Given the description of an element on the screen output the (x, y) to click on. 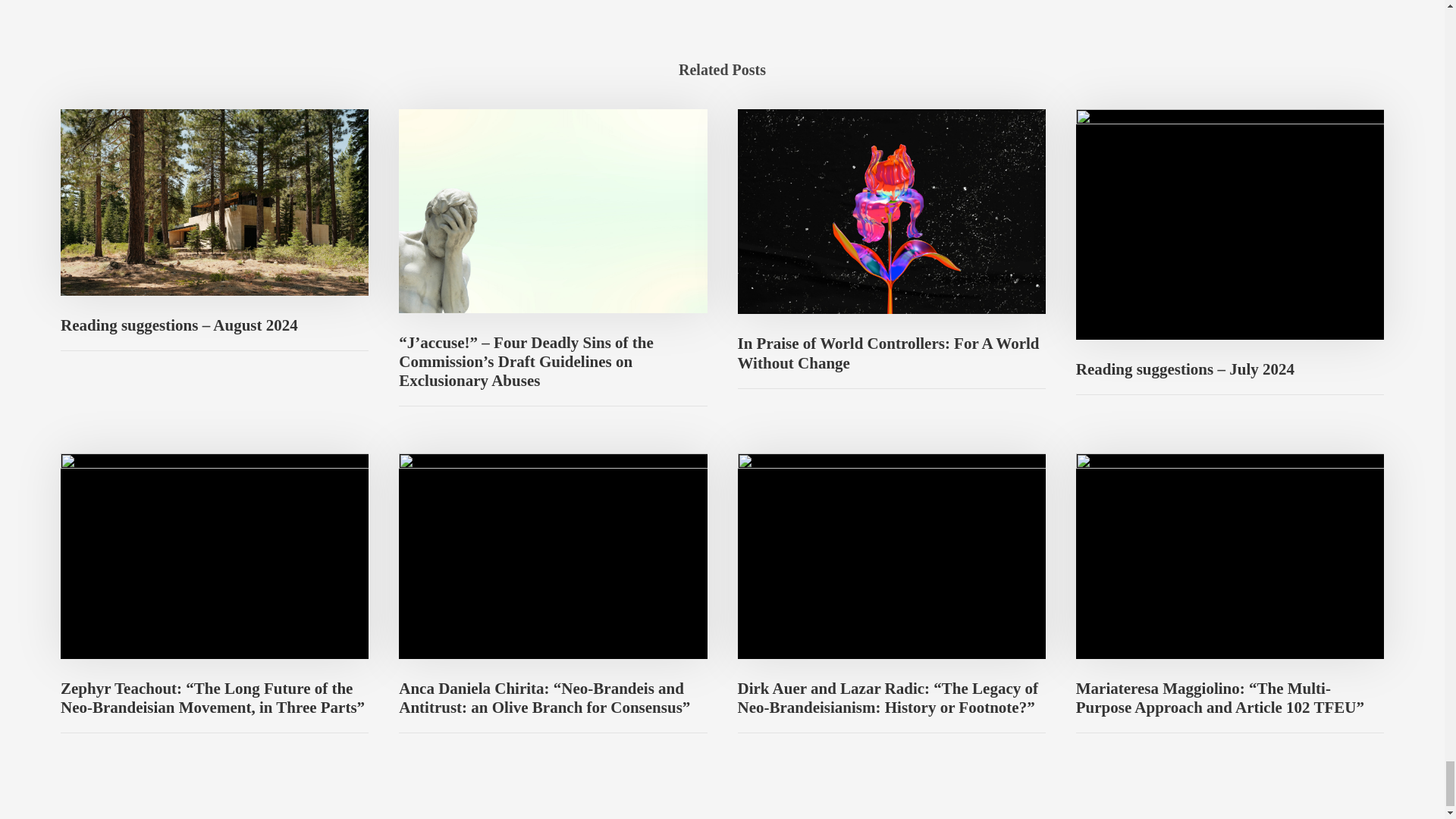
NLR (890, 556)
NLR (1229, 224)
NLR (552, 210)
NLR (214, 201)
29 (214, 556)
30 (552, 556)
31 (1229, 556)
